Given the description of an element on the screen output the (x, y) to click on. 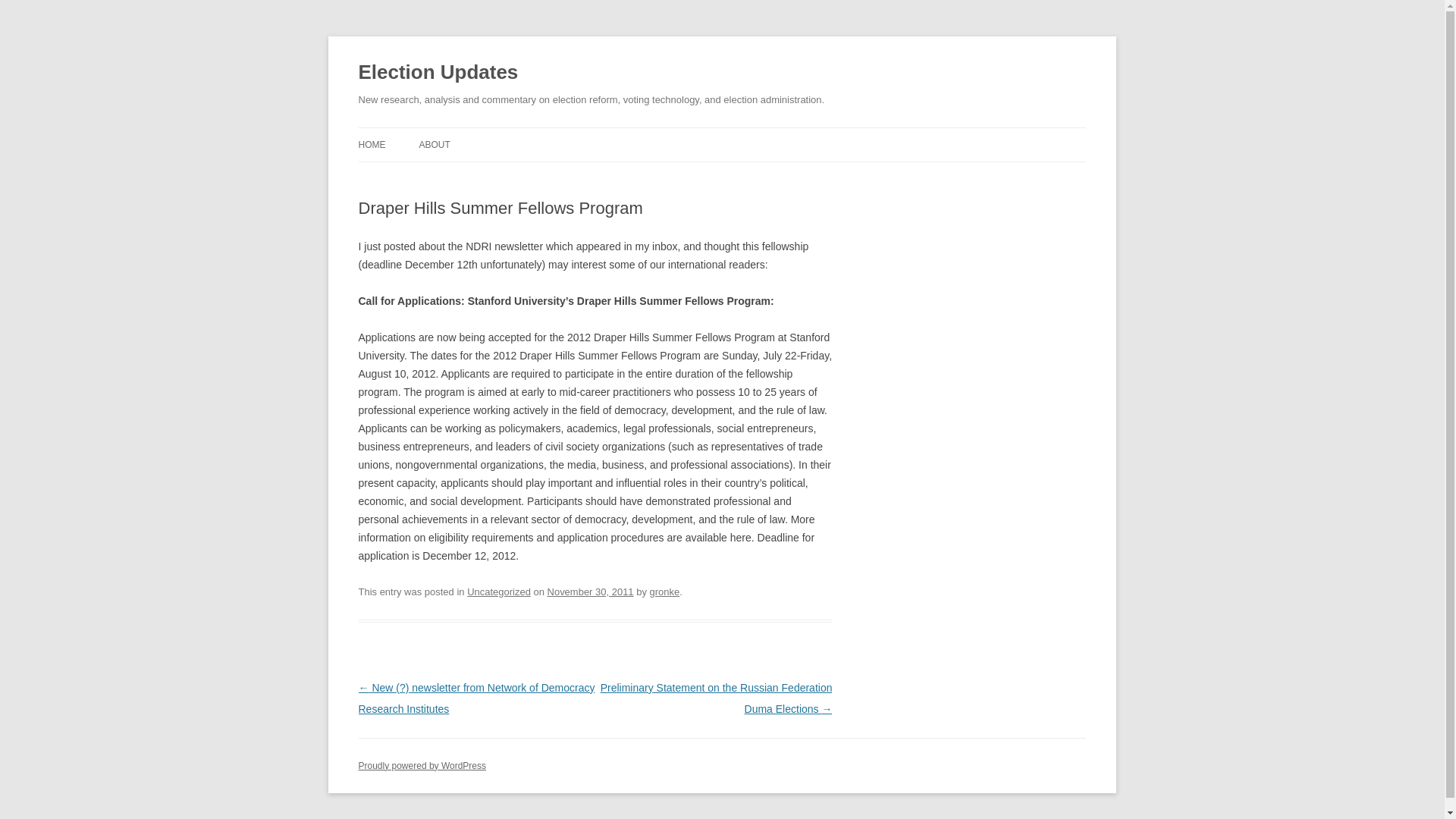
Uncategorized (499, 591)
Election Updates (438, 72)
ABOUT (434, 144)
11:28 am (590, 591)
View all posts by gronke (664, 591)
November 30, 2011 (590, 591)
gronke (664, 591)
